Given the description of an element on the screen output the (x, y) to click on. 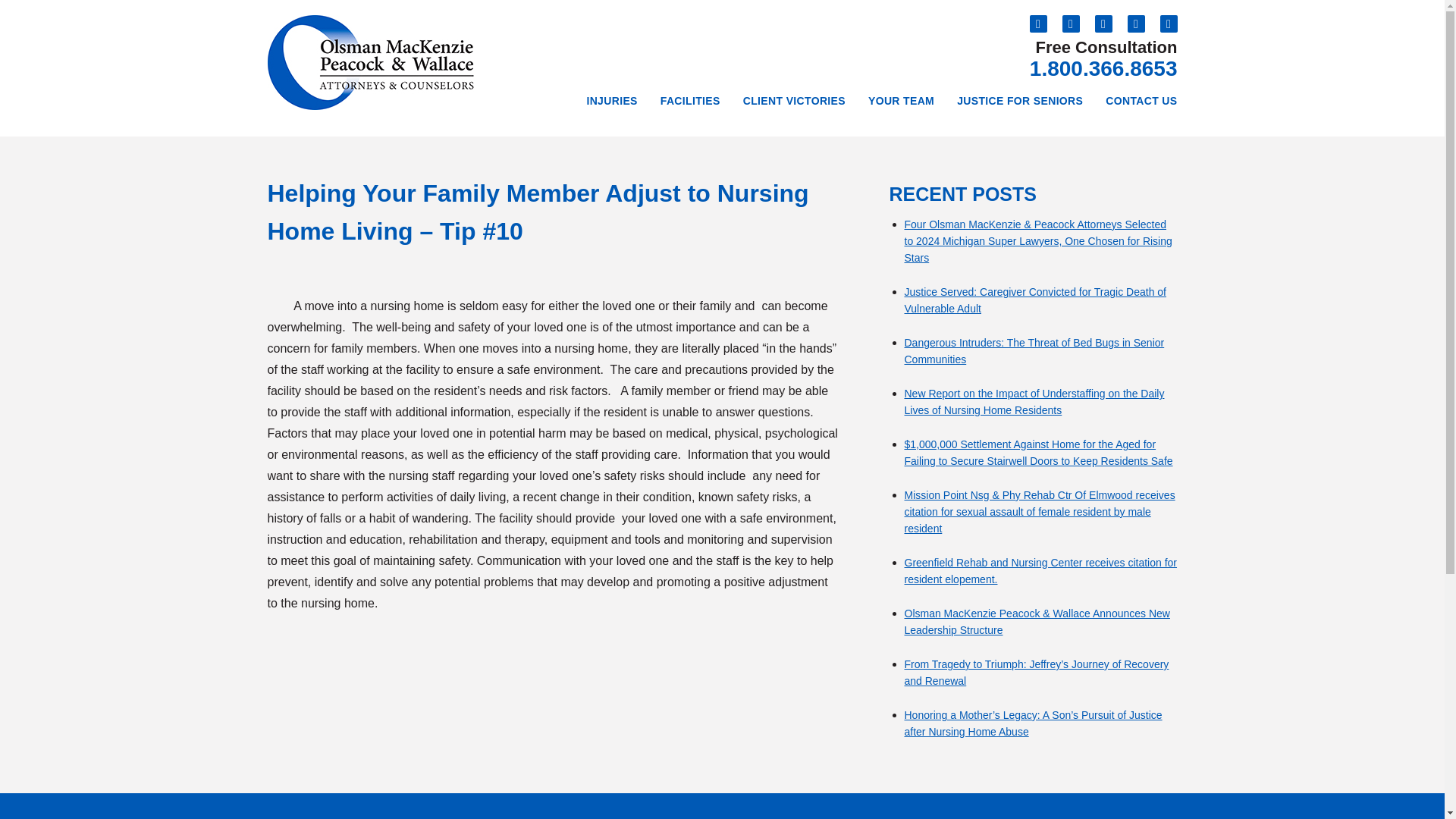
INJURIES (611, 101)
FACILITIES (690, 101)
YOUR TEAM (900, 101)
1.800.366.8653 (1103, 68)
CLIENT VICTORIES (794, 101)
